Given the description of an element on the screen output the (x, y) to click on. 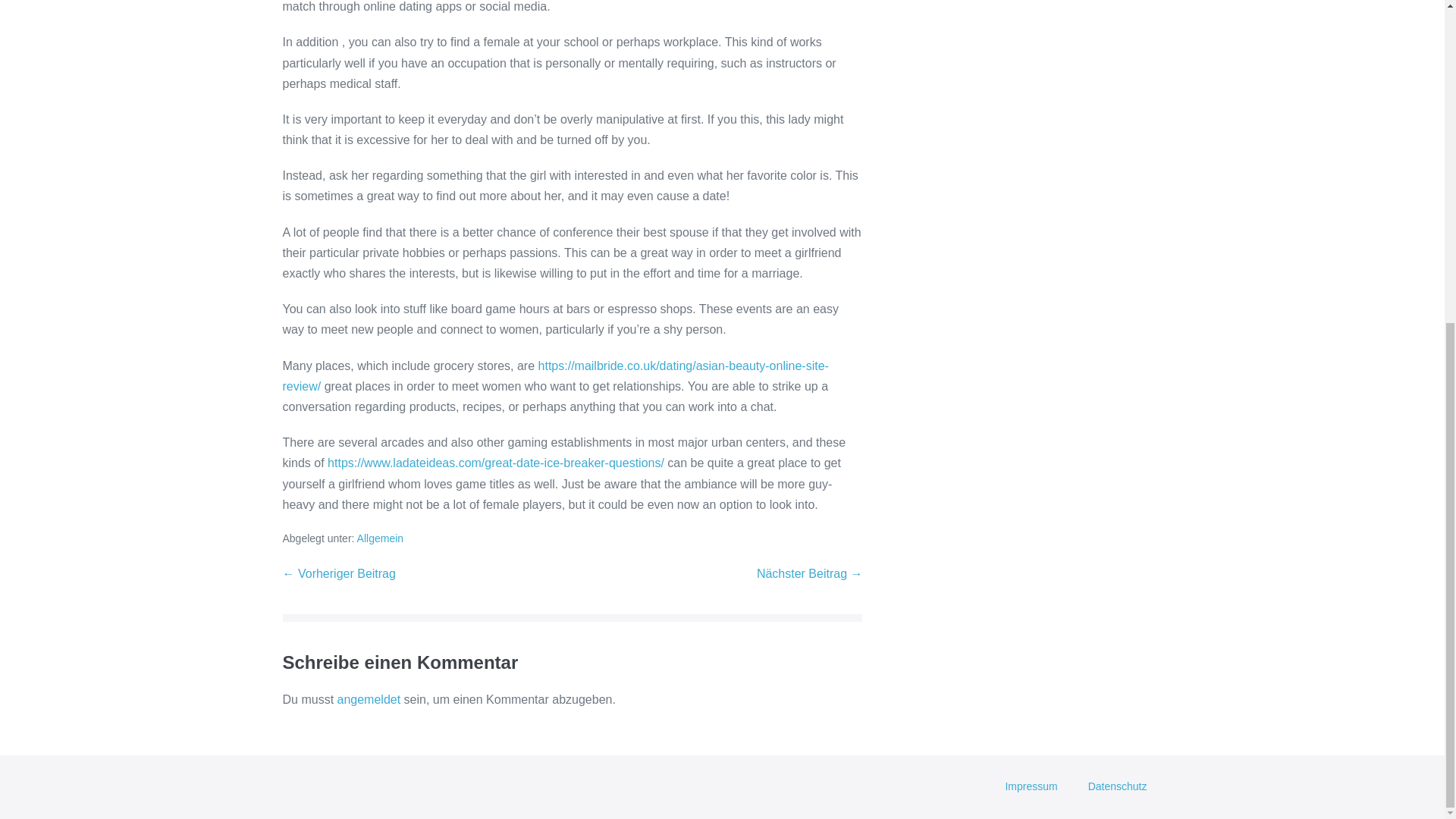
Datenschutz (1117, 786)
angemeldet (369, 698)
Impressum (1030, 786)
Allgemein (379, 538)
